Given the description of an element on the screen output the (x, y) to click on. 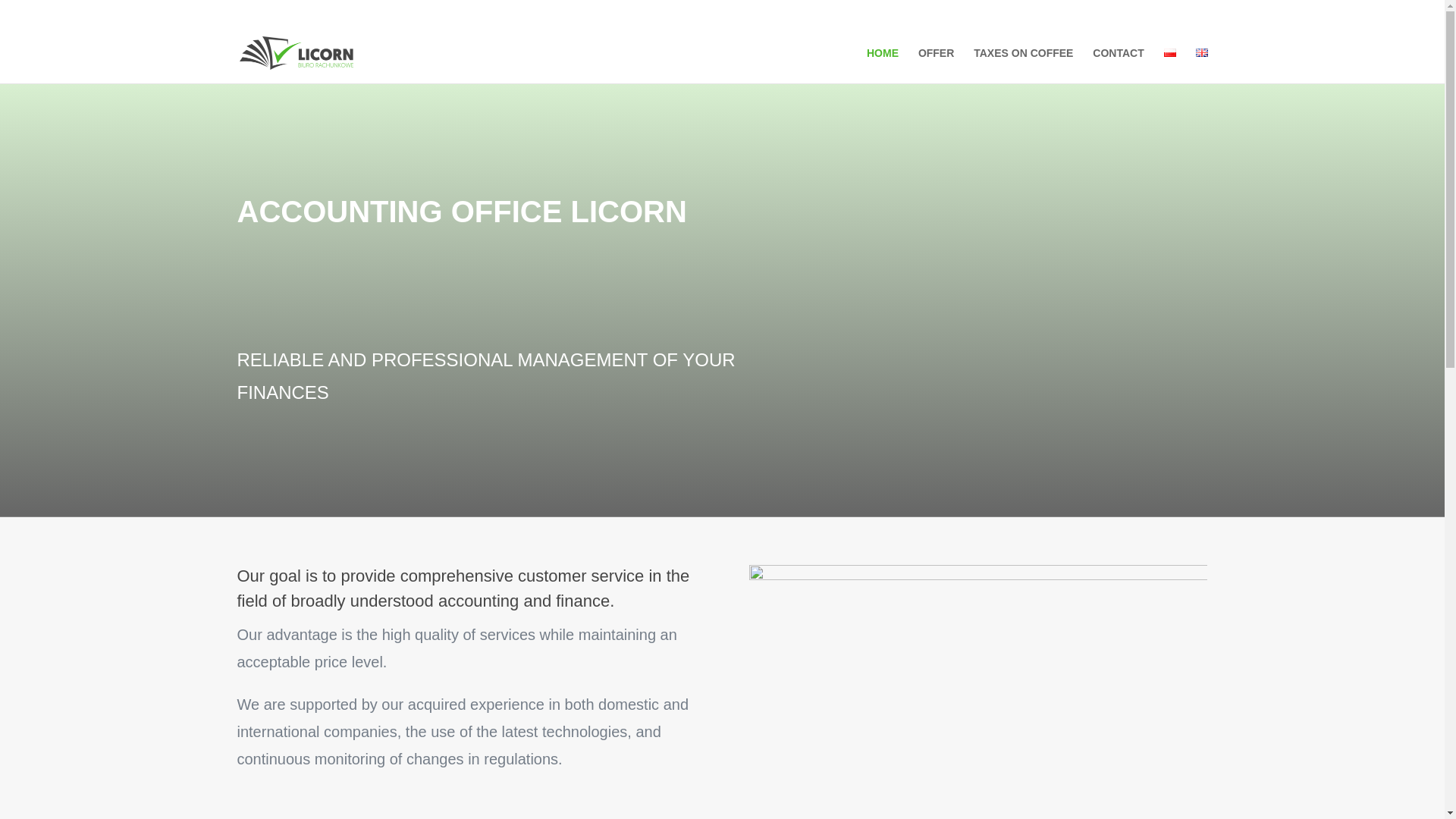
HOME (882, 65)
CONTACT (1117, 65)
TAXES ON COFFEE (1023, 65)
OFFER (935, 65)
